Given the description of an element on the screen output the (x, y) to click on. 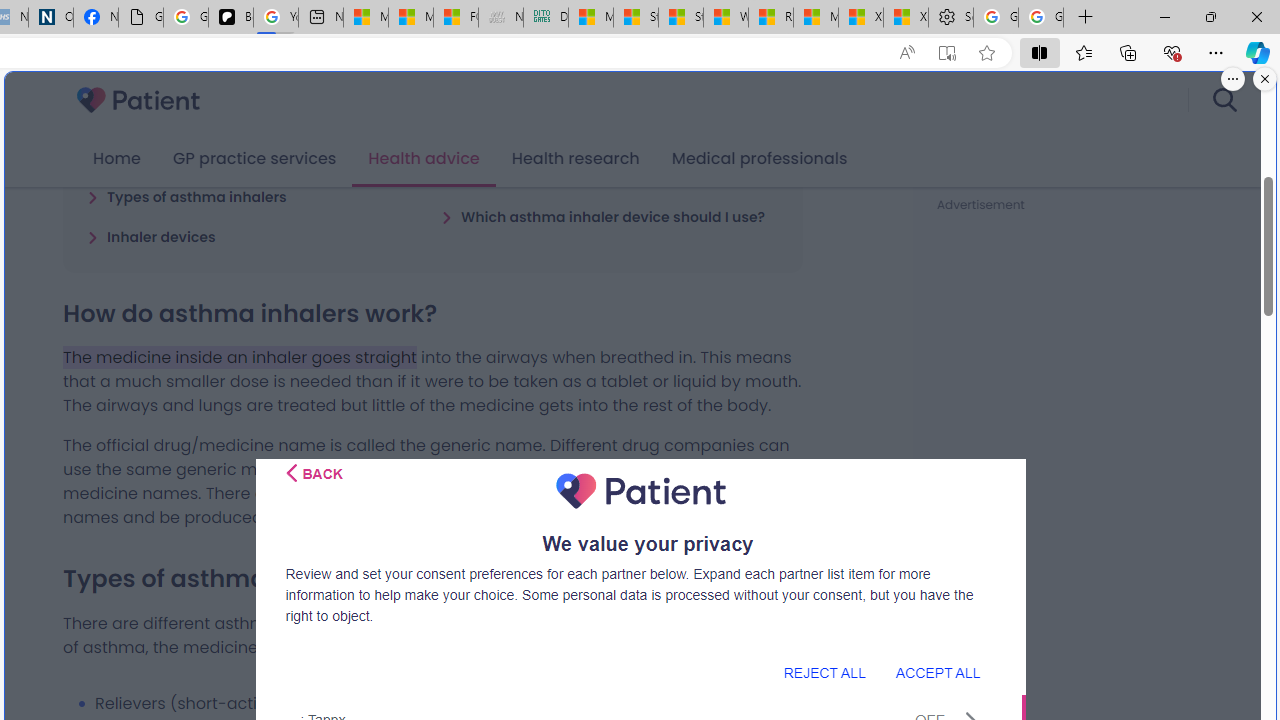
Medical professionals (759, 159)
Be Smart | creating Science videos | Patreon (230, 17)
Publisher Logo (640, 491)
Read aloud this page (Ctrl+Shift+U) (906, 53)
How do asthma inhalers work? (206, 156)
Medical professionals (759, 159)
Health advice (424, 159)
GP practice services (254, 159)
Settings (950, 17)
Home (116, 159)
GP practice services (254, 159)
Patient 3.0 (138, 100)
Health research (575, 159)
Microsoft Start (815, 17)
